Given the description of an element on the screen output the (x, y) to click on. 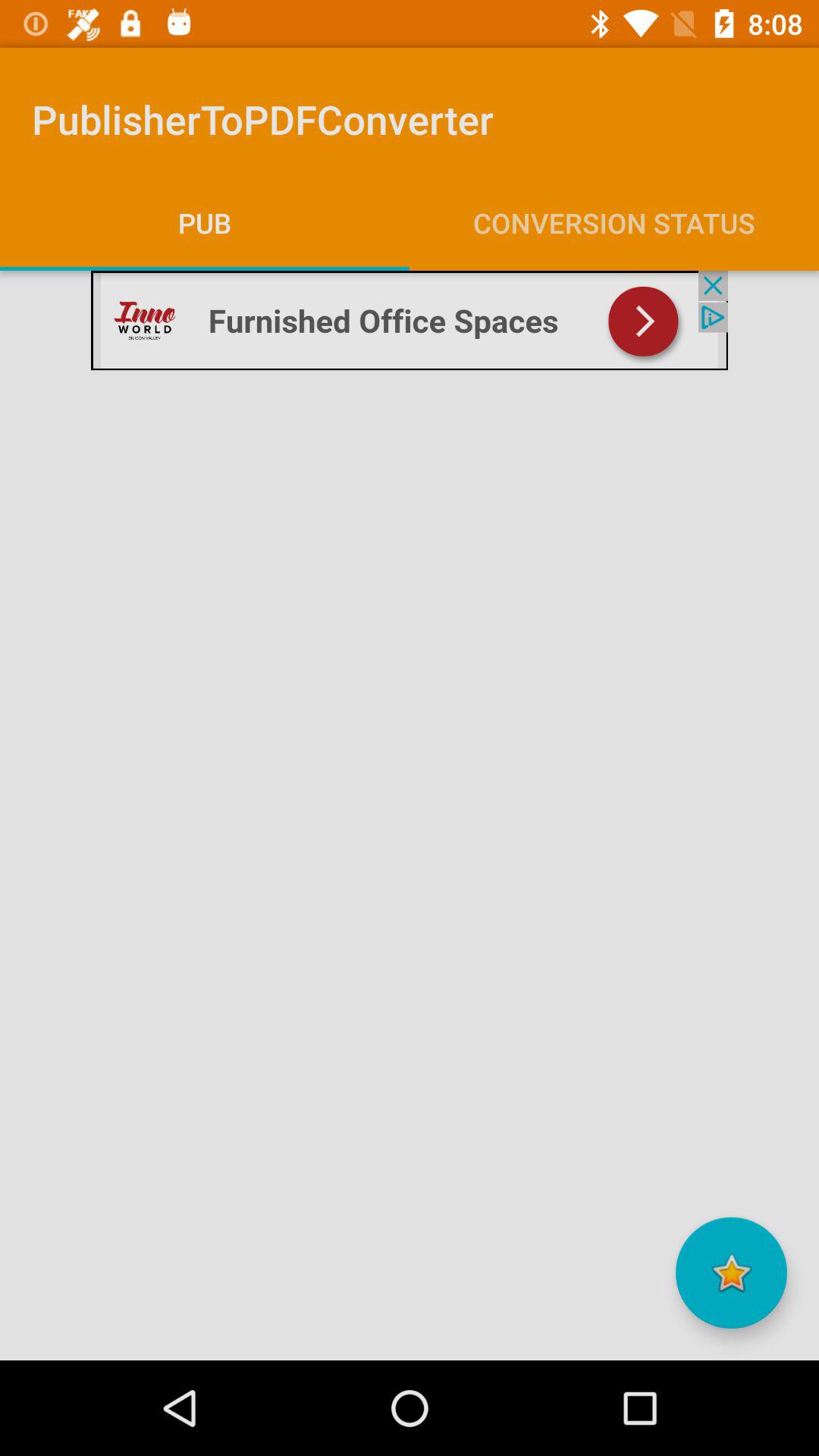
favorite the page (731, 1272)
